Given the description of an element on the screen output the (x, y) to click on. 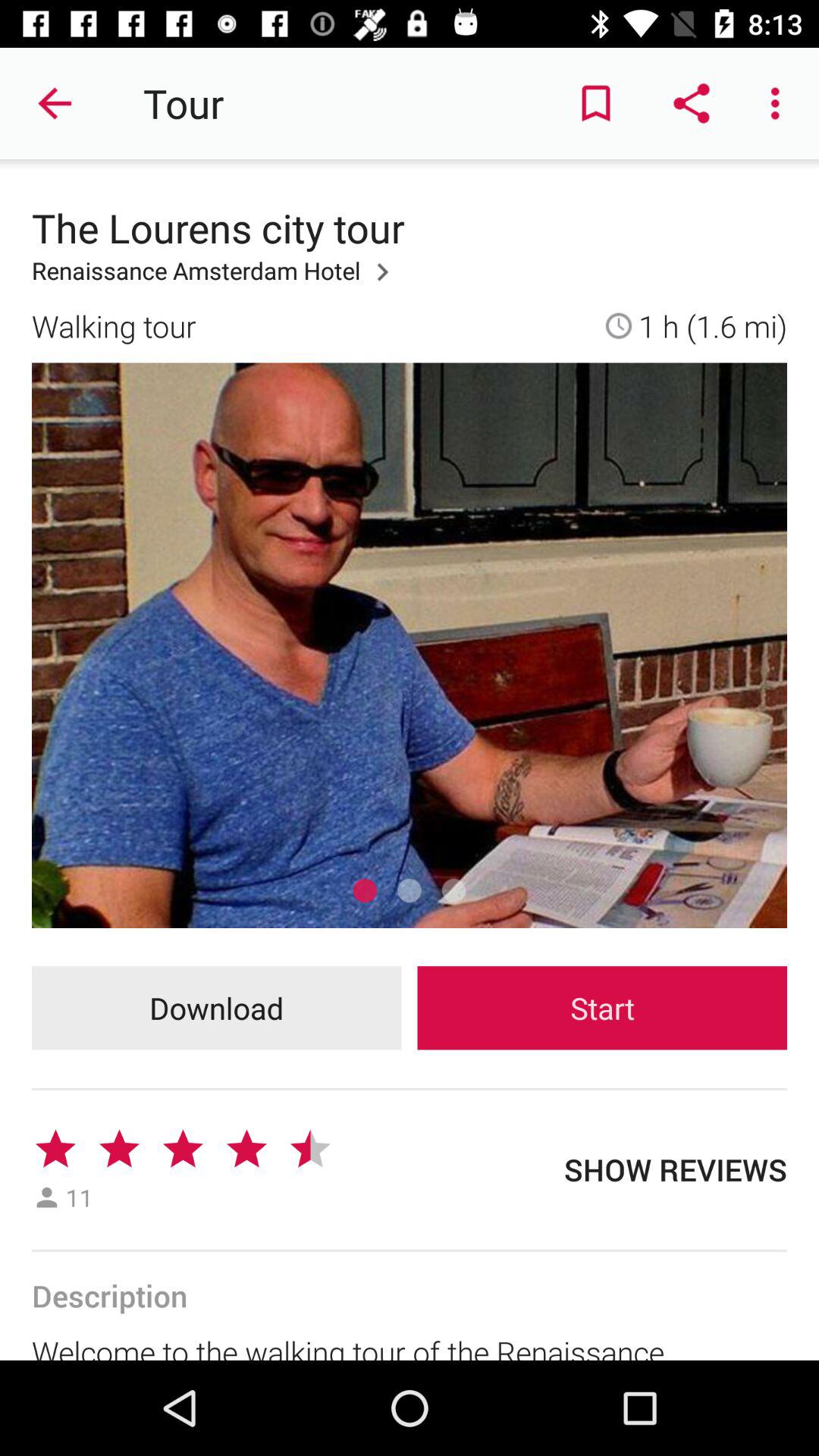
select the text left to start (216, 1008)
click on share button (691, 103)
select the text below the header text (215, 279)
click on top most right button (779, 103)
click at the icon left side of number 11 (46, 1197)
second red color star below the download button (119, 1149)
select the fourth star from left below the download button (246, 1149)
